Given the description of an element on the screen output the (x, y) to click on. 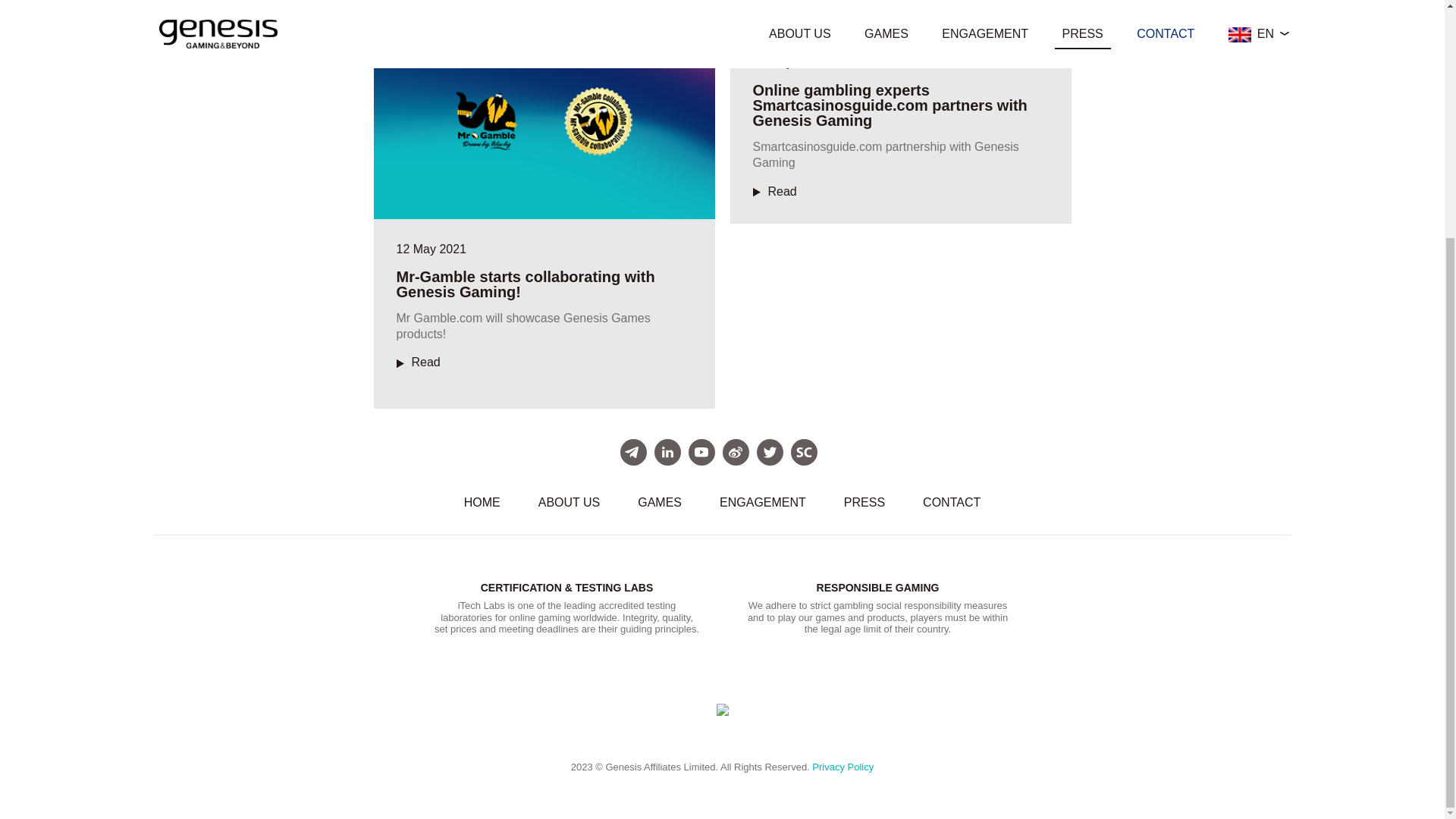
CONTACT (951, 502)
Read (417, 361)
HOME (482, 502)
ABOUT US (569, 502)
ENGAGEMENT (762, 502)
GAMES (659, 502)
Read (774, 191)
Privacy Policy (842, 767)
PRESS (863, 502)
